Given the description of an element on the screen output the (x, y) to click on. 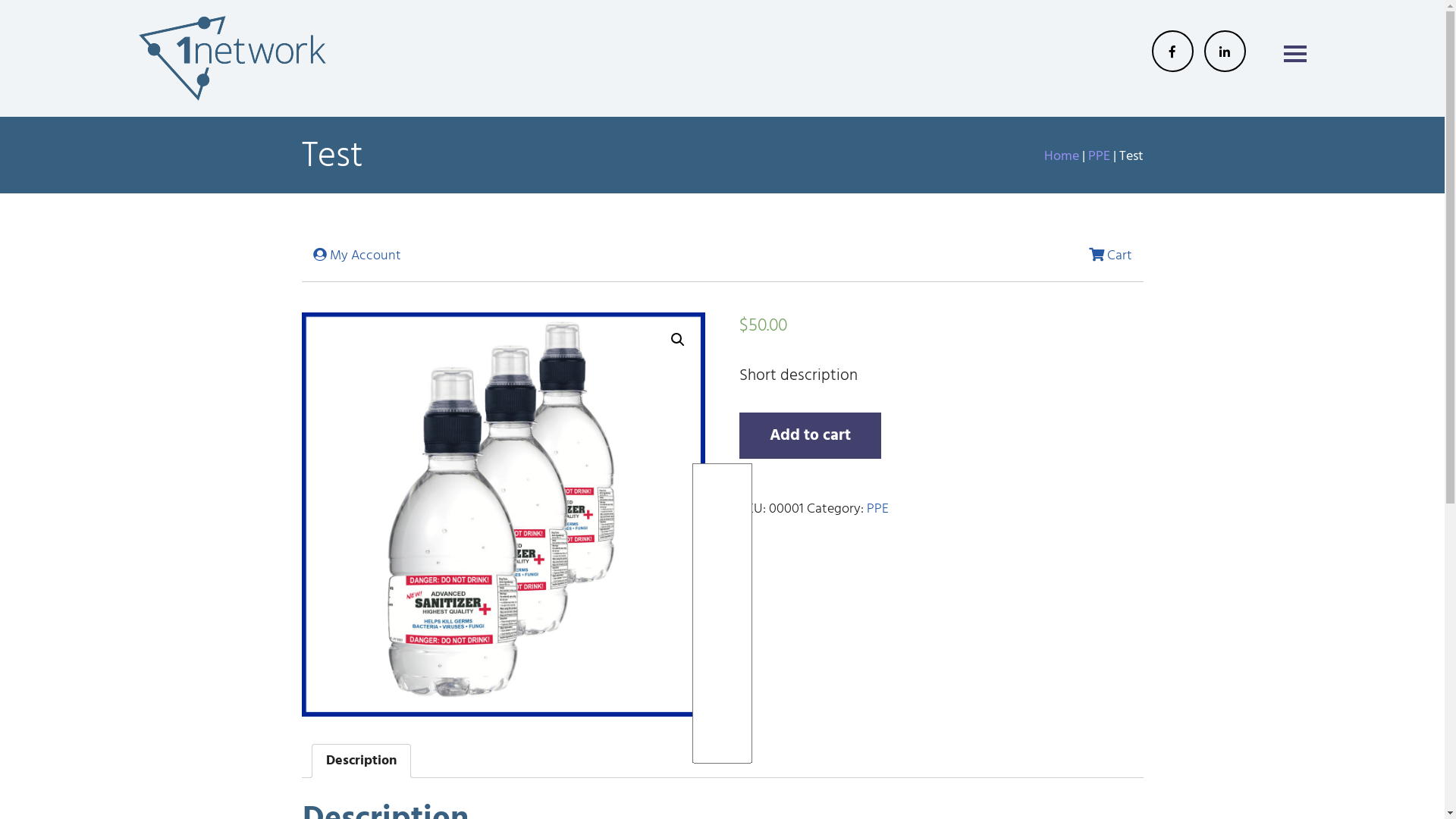
Cart Element type: text (1110, 255)
Home Element type: text (1060, 156)
PPE Element type: text (1098, 156)
2-1 Element type: hover (503, 514)
My Account Element type: text (356, 255)
Add to cart Element type: text (810, 435)
PPE Element type: text (877, 509)
Description Element type: text (361, 761)
Qty Element type: hover (722, 612)
